Given the description of an element on the screen output the (x, y) to click on. 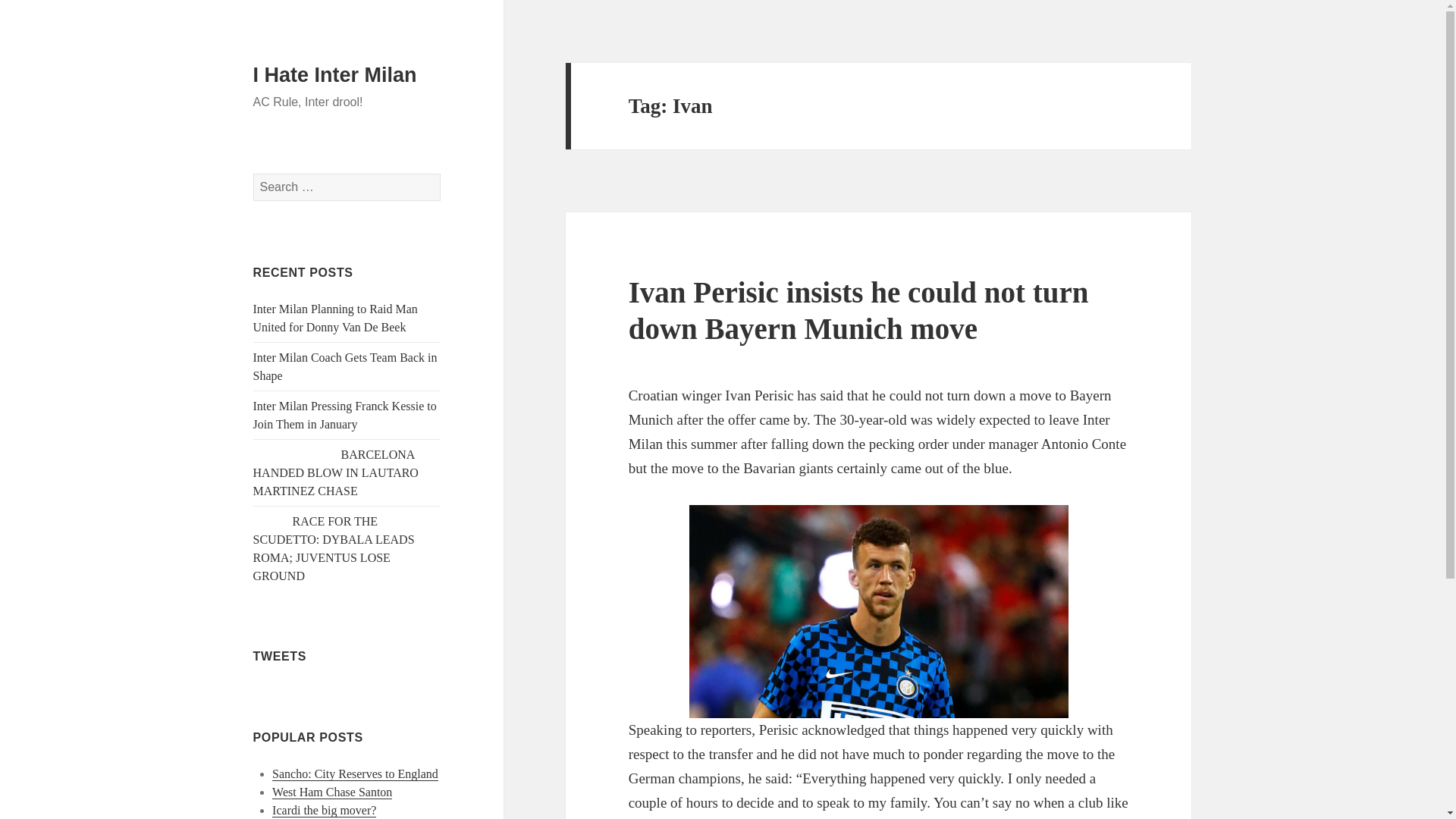
West Ham Chase Santon (331, 792)
Inter Milan Pressing Franck Kessie to Join Them in January (344, 414)
I Hate Inter Milan (334, 74)
Inter Milan Coach Gets Team Back in Shape (345, 366)
